Given the description of an element on the screen output the (x, y) to click on. 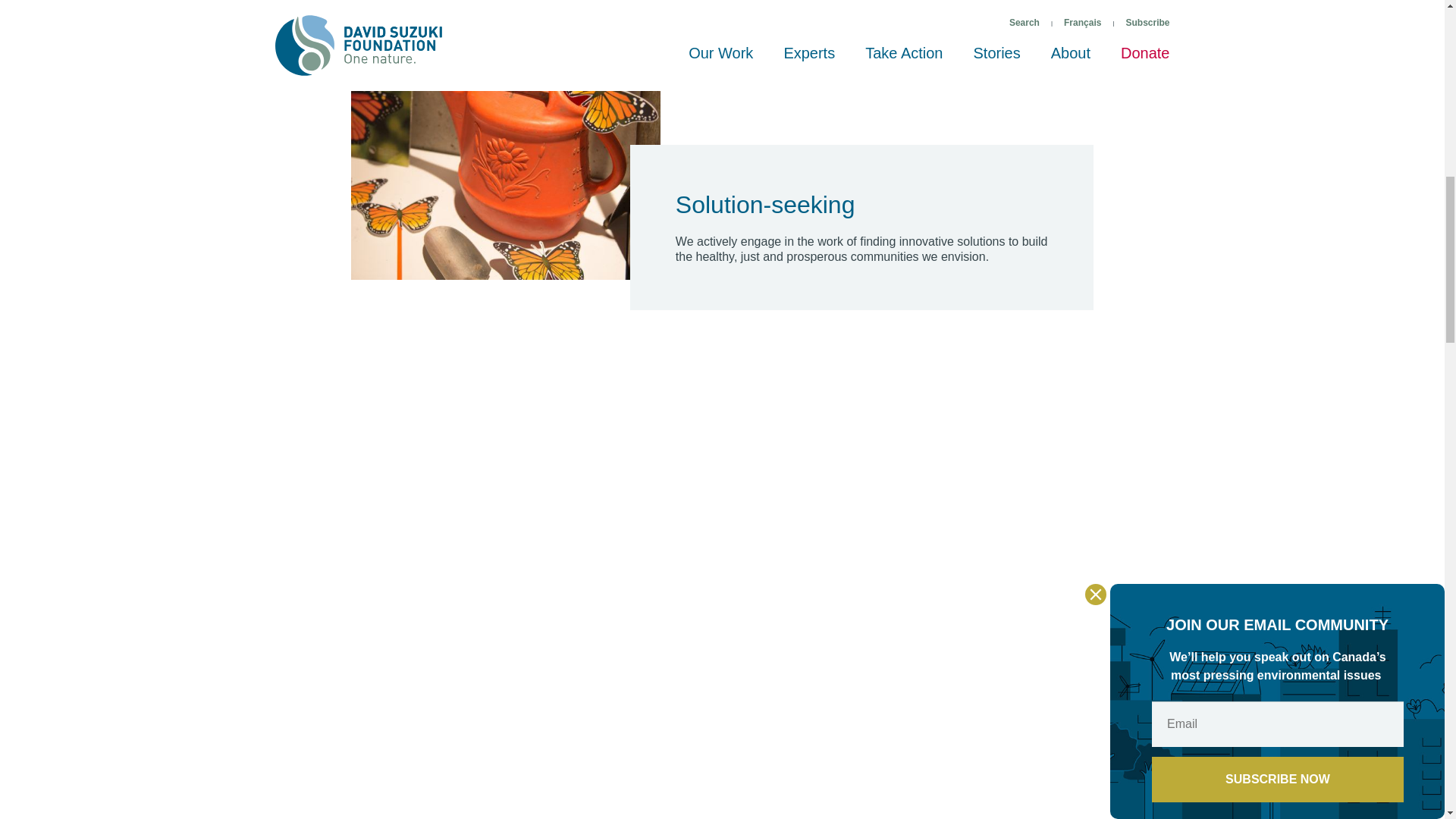
values-solution-seeking (504, 140)
